Given the description of an element on the screen output the (x, y) to click on. 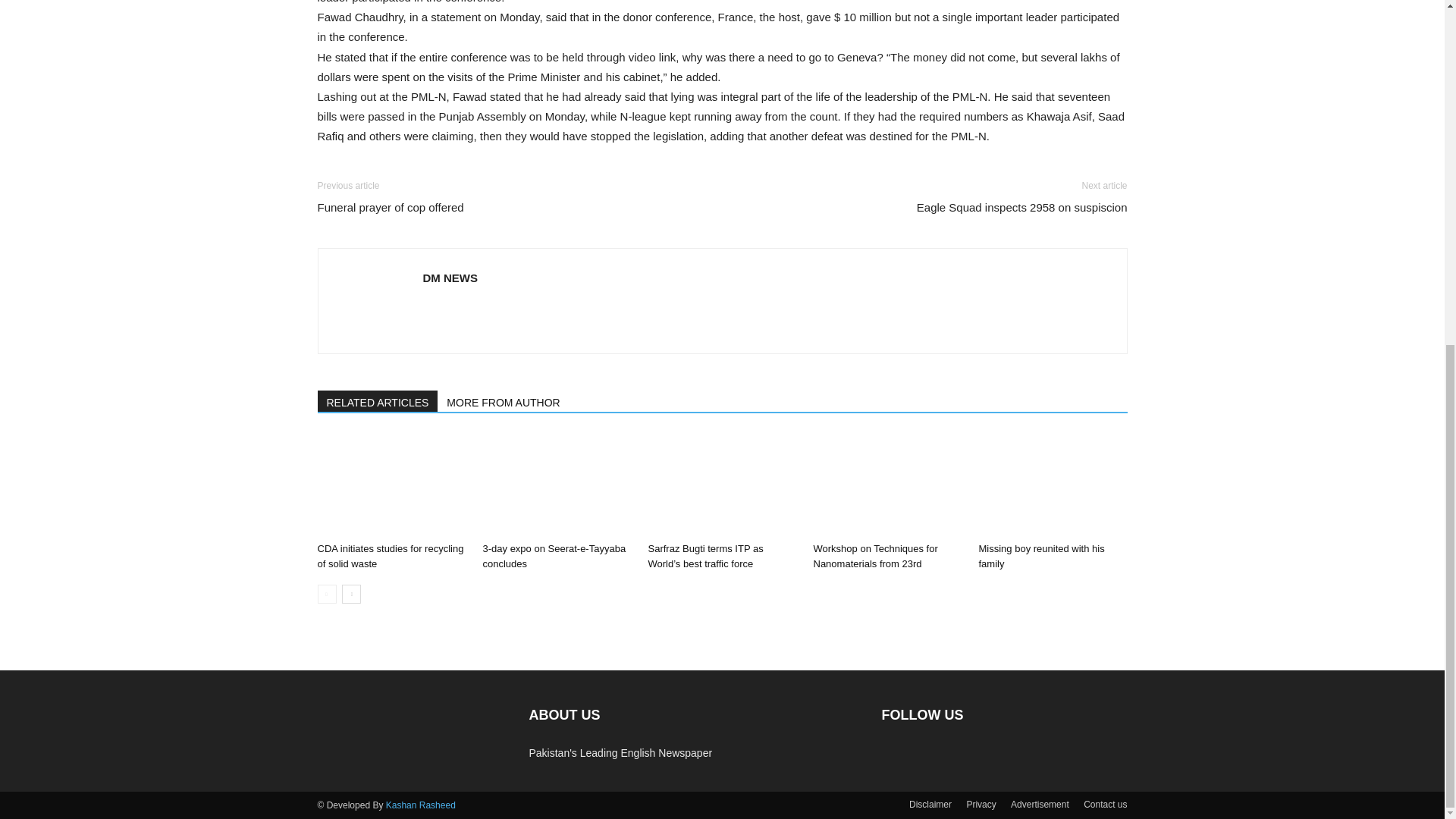
CDA initiates studies for recycling of solid waste (391, 485)
CDA initiates studies for recycling of solid waste (390, 555)
Workshop on Techniques for Nanomaterials from 23rd (874, 555)
3-day expo on Seerat-e-Tayyaba concludes (553, 555)
3-day expo on Seerat-e-Tayyaba concludes (555, 485)
Workshop on Techniques for Nanomaterials from 23rd (886, 485)
Missing boy reunited with his family (1052, 485)
